Given the description of an element on the screen output the (x, y) to click on. 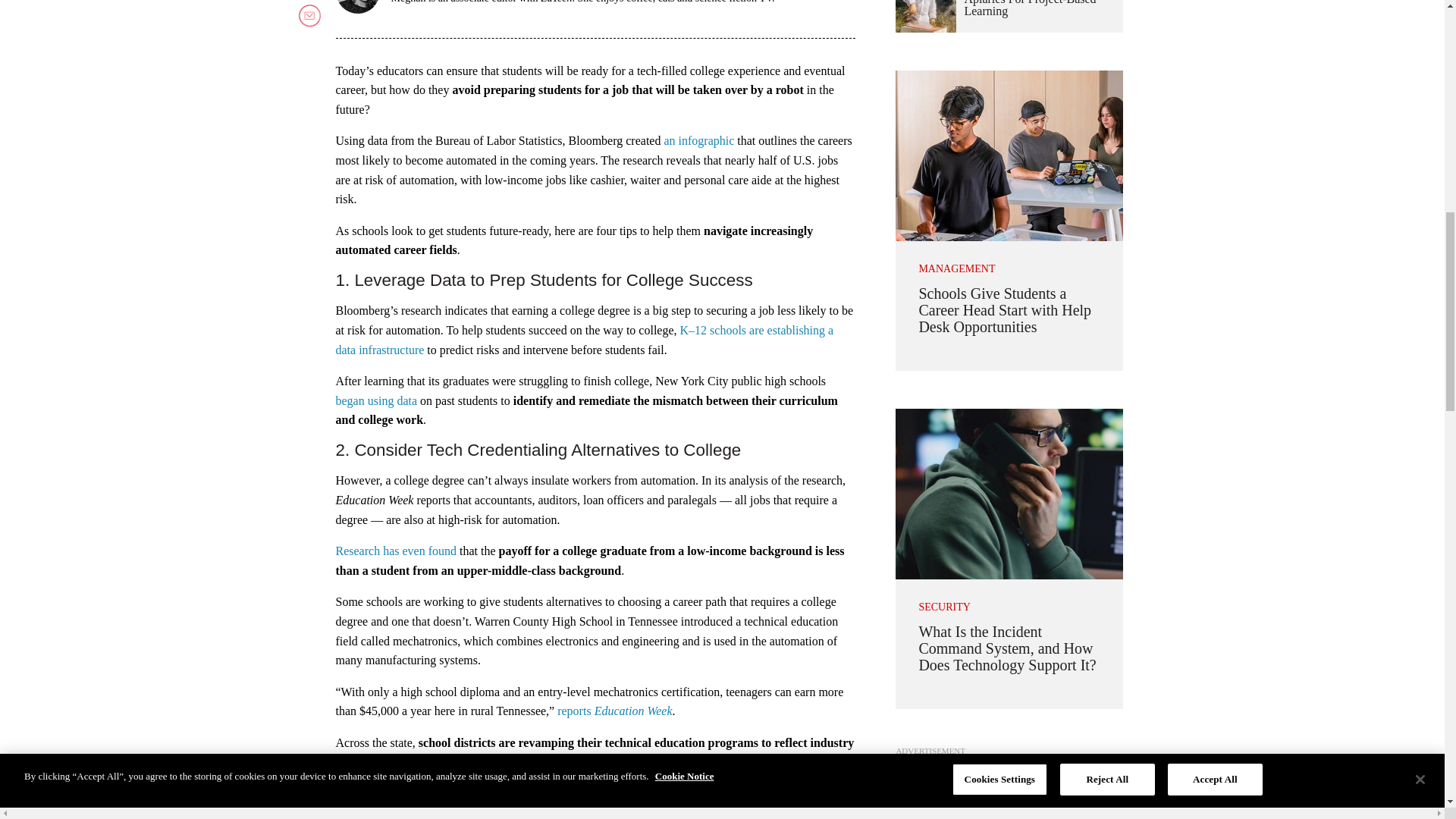
advertisement (1008, 790)
